Given the description of an element on the screen output the (x, y) to click on. 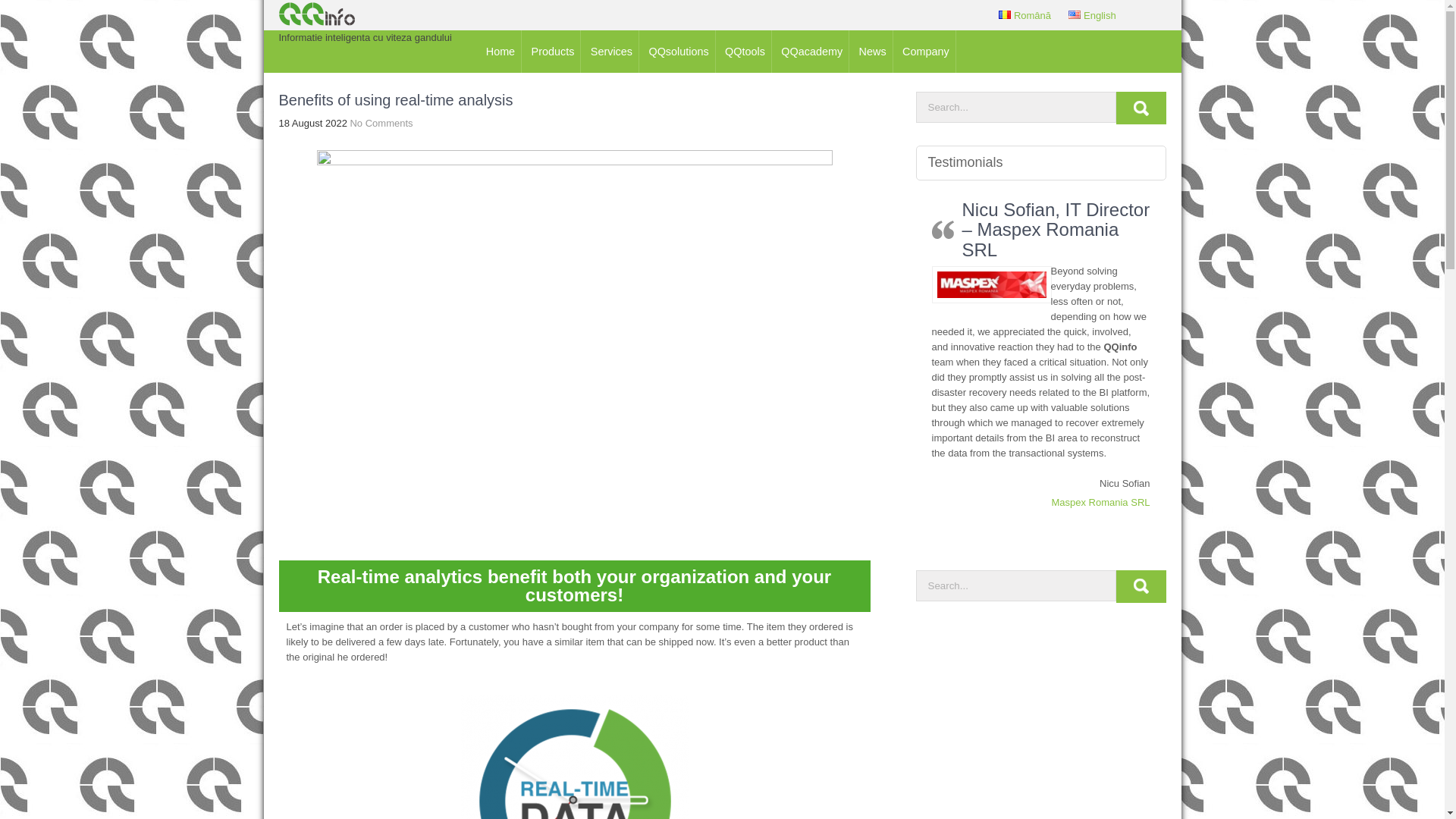
English (1092, 15)
Search (1141, 586)
Search (1141, 586)
Search (1141, 107)
QQsolutions (678, 51)
Products (552, 51)
Home (500, 51)
Services (612, 51)
Search (1141, 107)
